Given the description of an element on the screen output the (x, y) to click on. 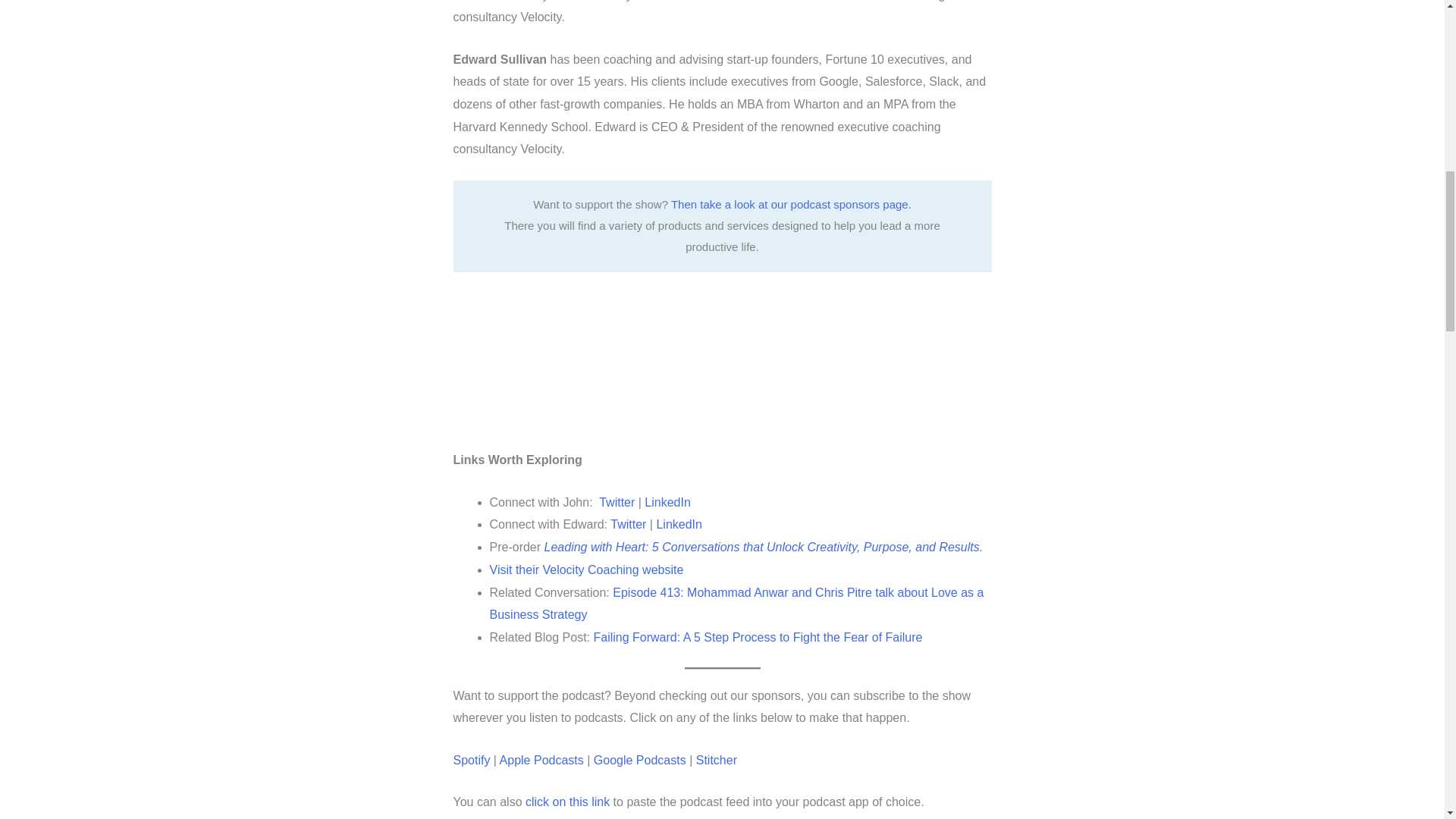
Stitcher (715, 759)
LinkedIn (678, 523)
Twitter (616, 502)
Then take a look at our podcast sponsors page. (791, 204)
click on this link (567, 801)
Apple Podcasts (541, 759)
Spotify (471, 759)
